Given the description of an element on the screen output the (x, y) to click on. 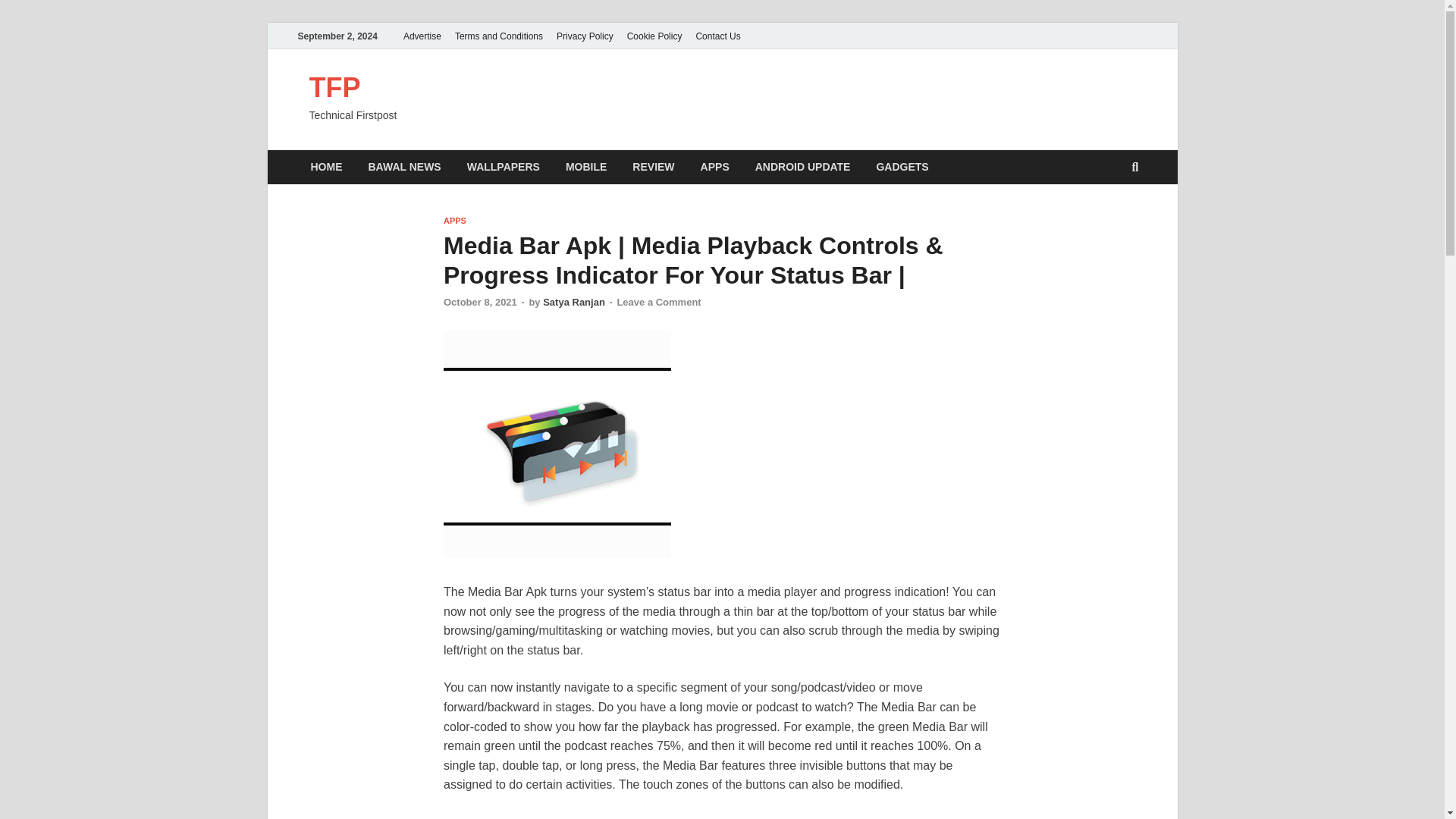
Contact Us (717, 35)
GADGETS (901, 166)
Cookie Policy (654, 35)
October 8, 2021 (480, 301)
APPS (714, 166)
Terms and Conditions (499, 35)
REVIEW (653, 166)
WALLPAPERS (503, 166)
TFP (334, 87)
MOBILE (586, 166)
